Given the description of an element on the screen output the (x, y) to click on. 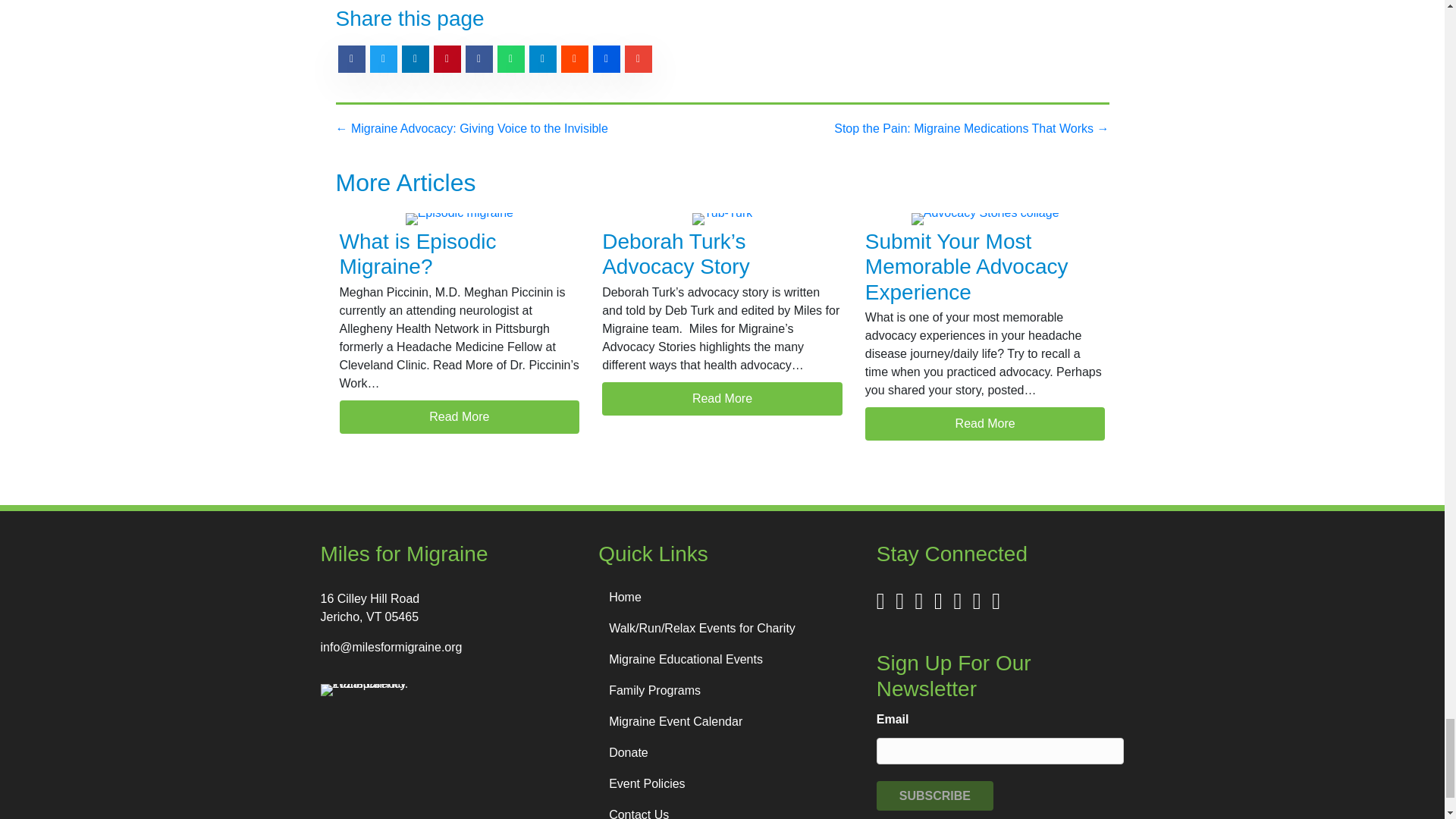
Tub-Turk-featured-image (722, 218)
Episodic migraine (459, 218)
What is Episodic Migraine? (459, 417)
Subscribe (934, 795)
What is Episodic Migraine? (417, 254)
